Given the description of an element on the screen output the (x, y) to click on. 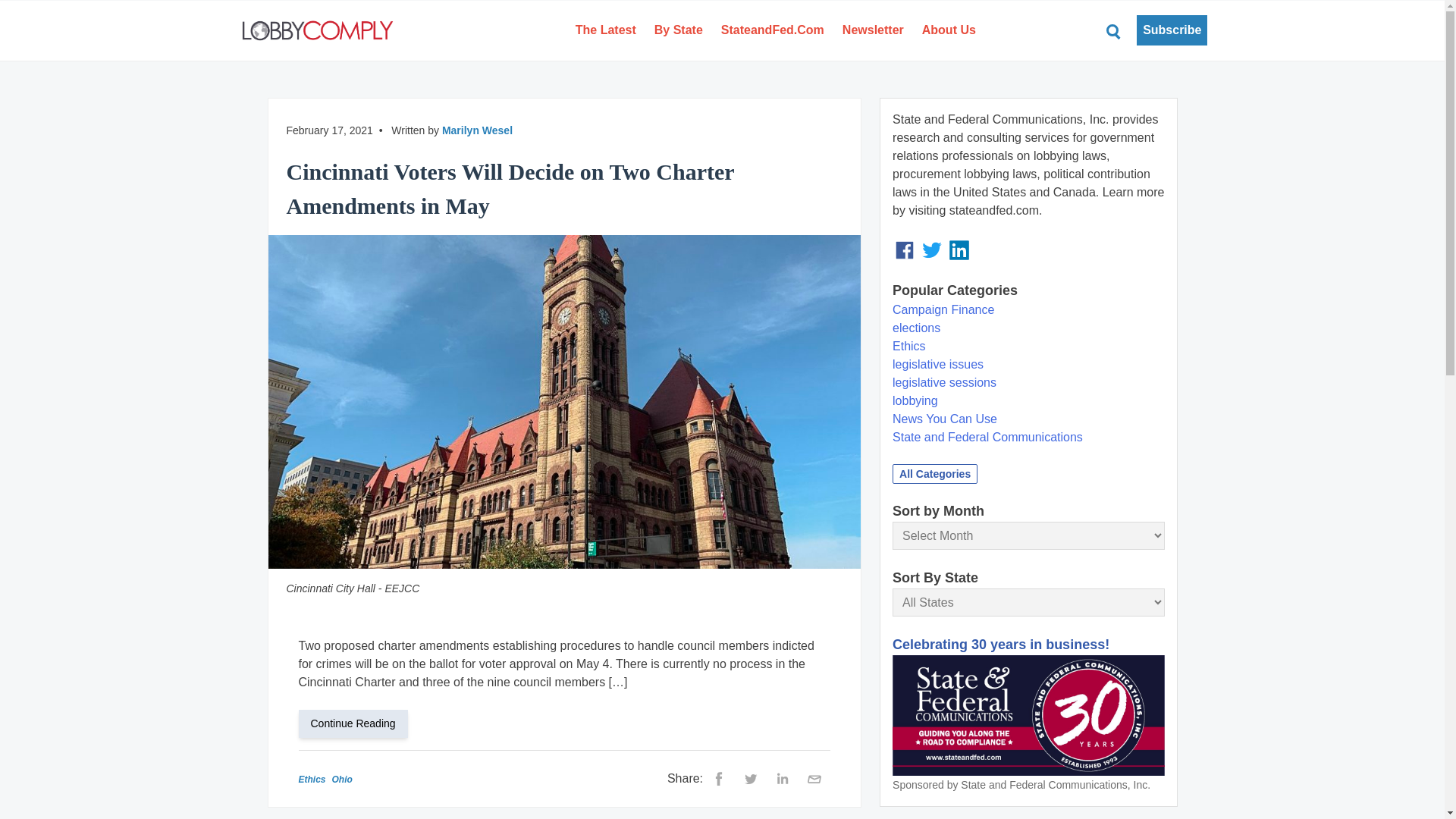
The Latest (605, 29)
Subscribe (1172, 30)
By State (678, 29)
About Us (948, 29)
Ohio (341, 778)
Ethics (312, 778)
StateandFed.Com (771, 29)
Marilyn Wesel (477, 130)
Continue Reading (359, 722)
Newsletter (872, 29)
